Given the description of an element on the screen output the (x, y) to click on. 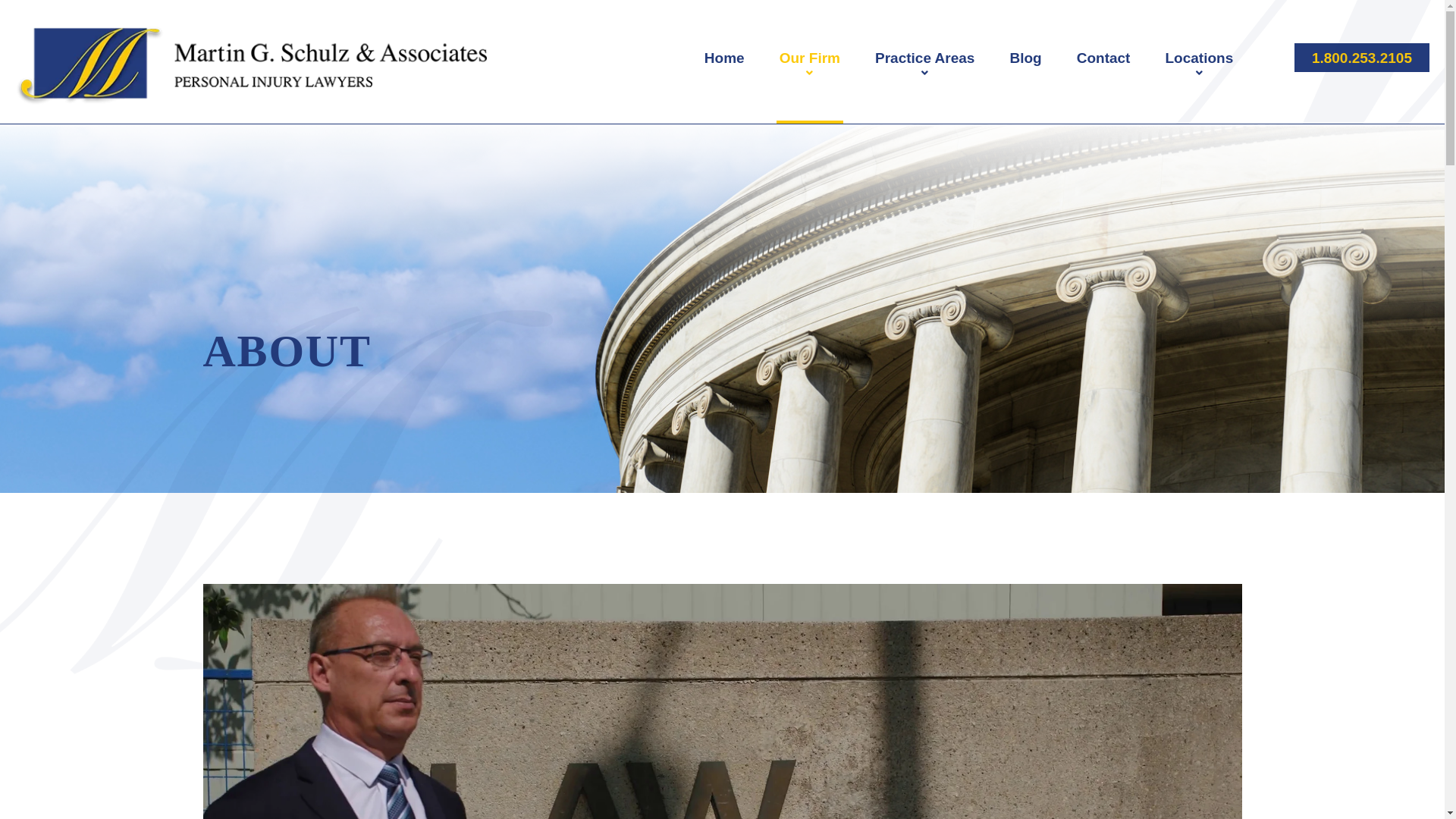
Our Firm (809, 64)
Home (724, 57)
Practice Areas (924, 64)
Locations (1198, 64)
Blog (1024, 57)
1.800.253.2105 (1361, 57)
Contact (1103, 57)
